Given the description of an element on the screen output the (x, y) to click on. 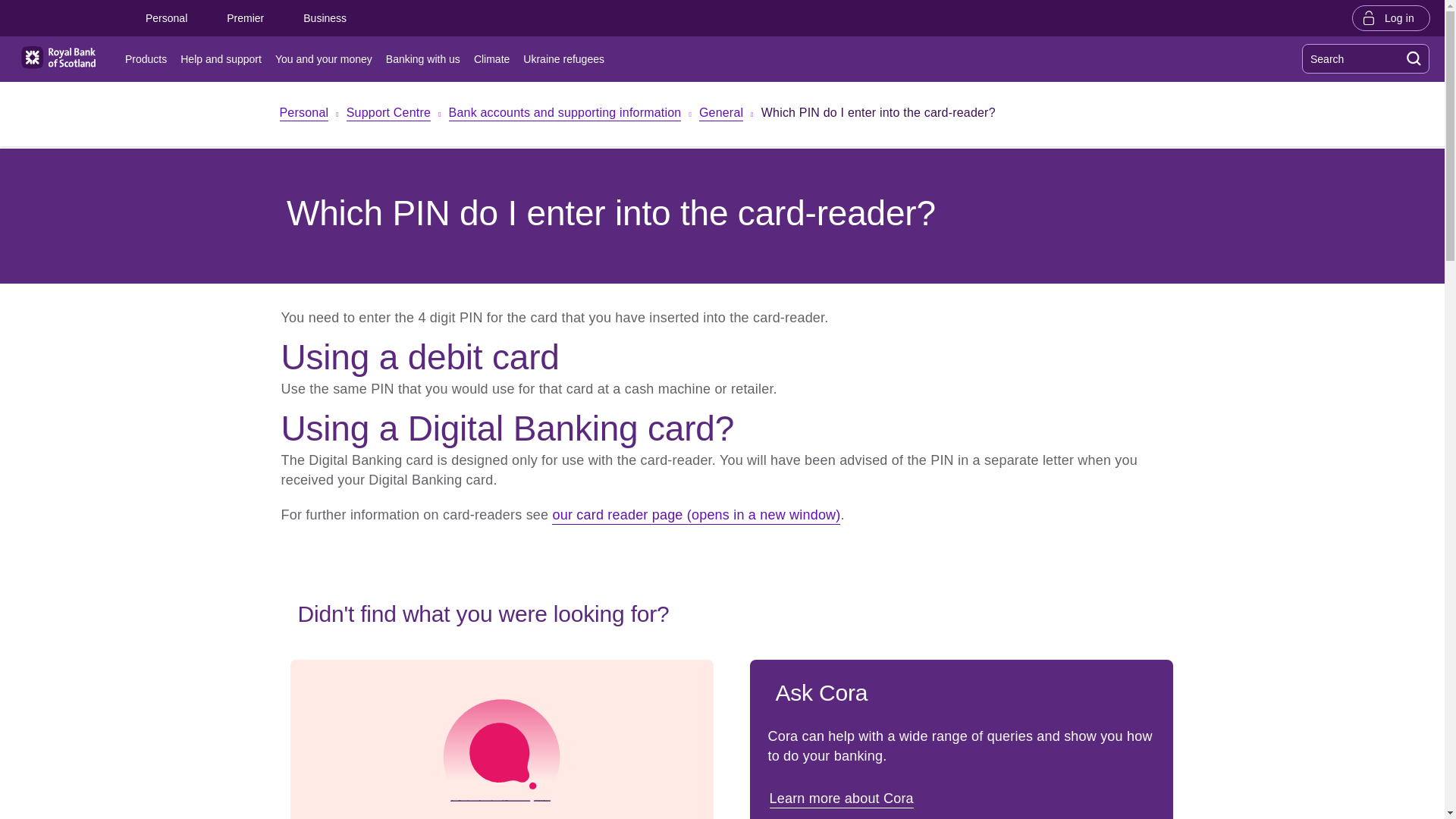
Royal Bank of Scotland (57, 58)
Log in (1390, 17)
Premier (244, 18)
Learn more about Cora (842, 798)
Personal (165, 18)
Bank accounts and supporting information (564, 114)
General (720, 114)
Personal (304, 114)
Which PIN do I enter into the card-reader? (878, 115)
Business (324, 18)
Products (149, 58)
Support Centre (388, 114)
